Given the description of an element on the screen output the (x, y) to click on. 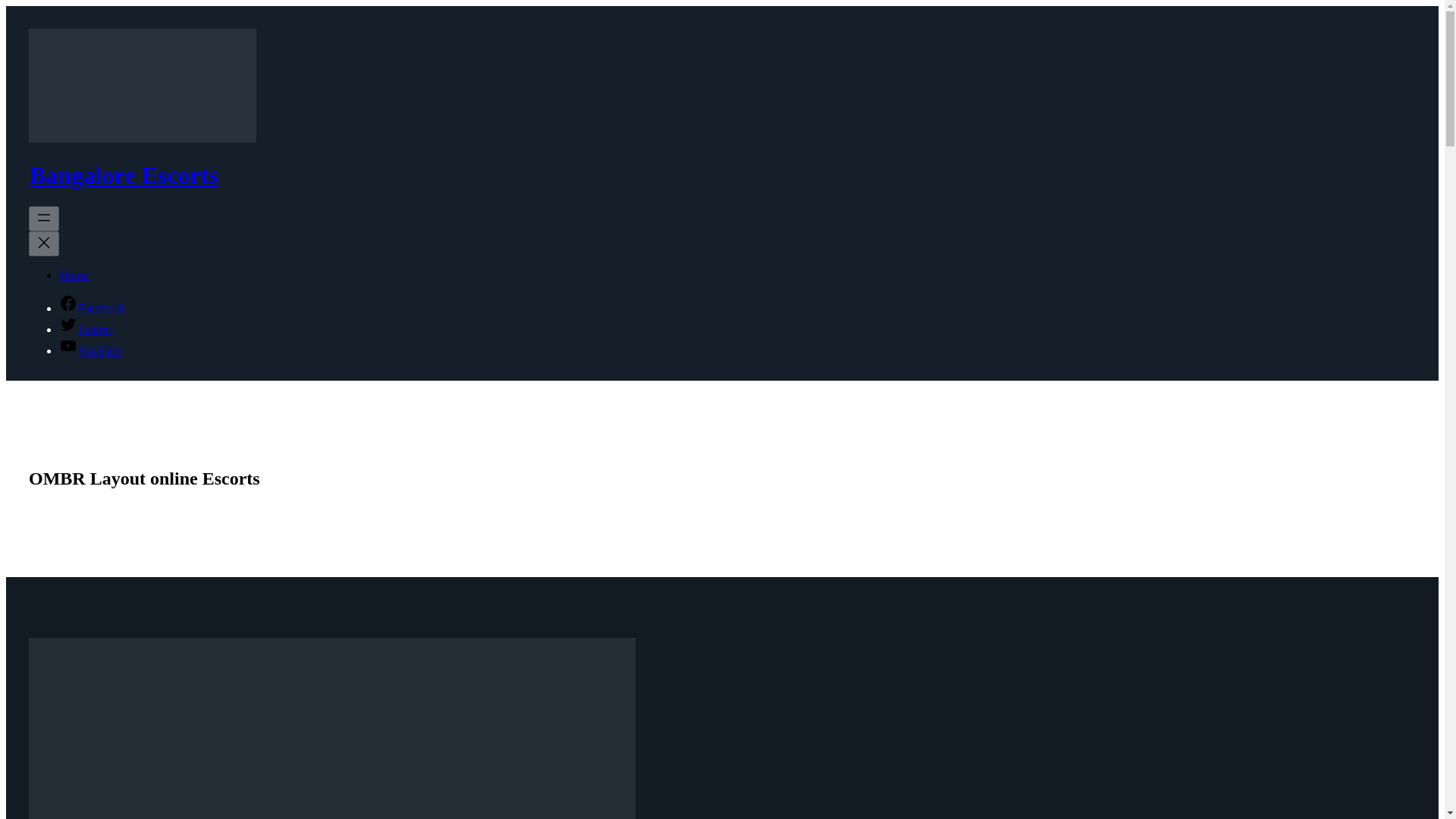
Bangalore Escorts (122, 175)
Twitter (85, 328)
Home (73, 274)
Facebook (91, 308)
YouTube (89, 350)
